Given the description of an element on the screen output the (x, y) to click on. 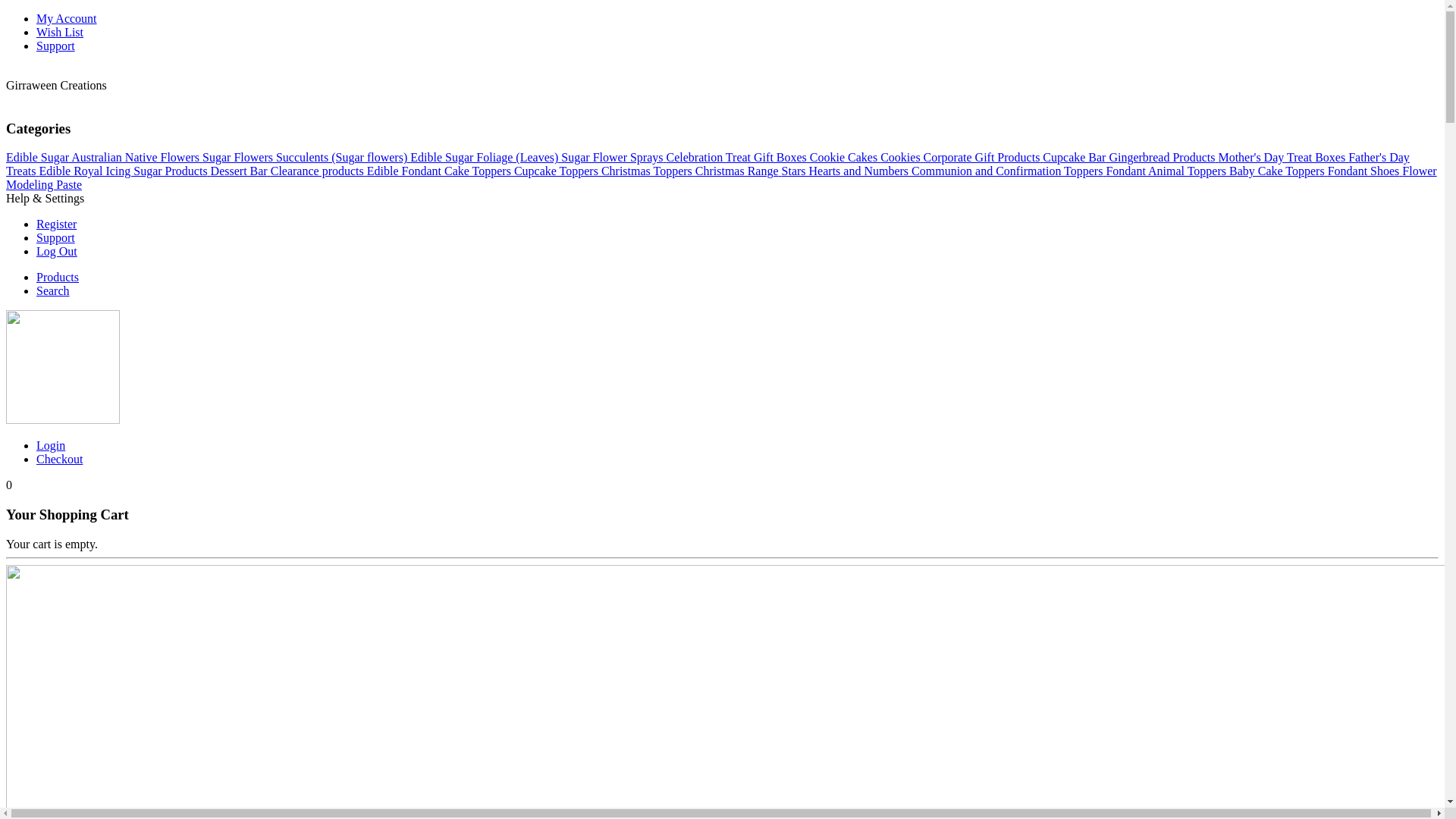
Sugar Flower Sprays Element type: text (613, 156)
Edible Royal Icing Sugar Products Element type: text (124, 170)
Sugar Flowers Element type: text (239, 156)
Succulents (Sugar flowers) Element type: text (343, 156)
Edible Fondant Cake Toppers Element type: text (440, 170)
Register Element type: text (56, 223)
Cookies Element type: text (901, 156)
Support Element type: text (55, 45)
Gingerbread Products Element type: text (1162, 156)
Checkout Element type: text (59, 458)
Mother's Day Treat Boxes Element type: text (1282, 156)
Baby Cake Toppers Element type: text (1278, 170)
Corporate Gift Products Element type: text (983, 156)
Edible Sugar Foliage (Leaves) Element type: text (485, 156)
Cupcake Bar Element type: text (1075, 156)
Celebration Treat Gift Boxes Element type: text (737, 156)
Wish List Element type: text (59, 31)
Support Element type: text (55, 237)
Cookie Cakes Element type: text (844, 156)
Communion and Confirmation Toppers Element type: text (1008, 170)
Login Element type: text (50, 445)
Flower Modeling Paste Element type: text (721, 177)
Stars Hearts and Numbers Element type: text (846, 170)
Clearance products Element type: text (318, 170)
Cupcake Toppers Element type: text (557, 170)
Log Out Element type: text (56, 250)
Father's Day Treats Element type: text (707, 163)
Products Element type: text (57, 276)
My Account Element type: text (66, 18)
Fondant Shoes Element type: text (1364, 170)
Christmas Toppers Element type: text (648, 170)
Edible Sugar Australian Native Flowers Element type: text (104, 156)
Fondant Animal Toppers Element type: text (1167, 170)
Christmas Range Element type: text (738, 170)
Dessert Bar Element type: text (240, 170)
Search Element type: text (52, 290)
